Given the description of an element on the screen output the (x, y) to click on. 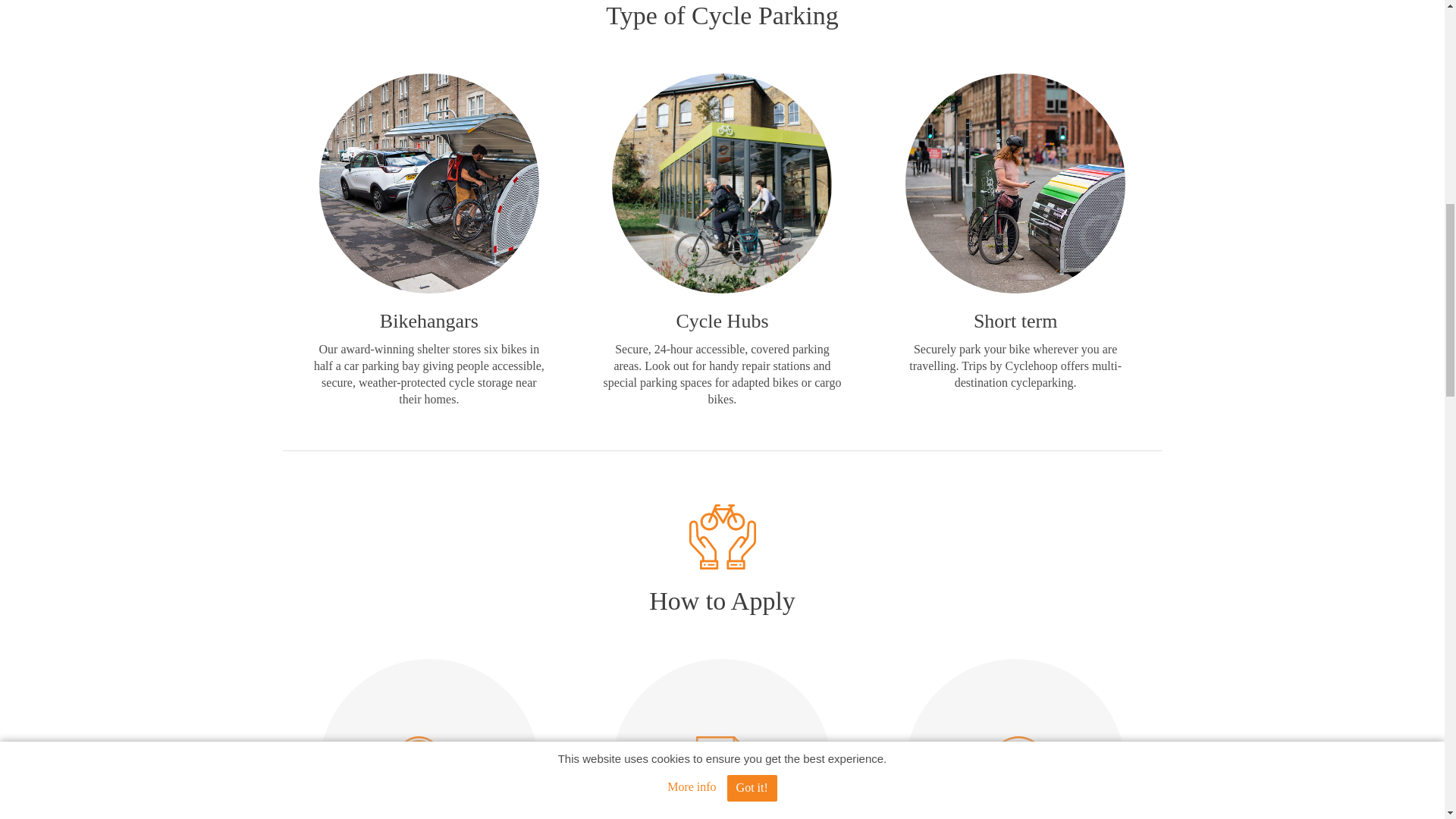
Cycle Hubs (722, 321)
Short term (1015, 321)
Bikehangars (429, 321)
